Given the description of an element on the screen output the (x, y) to click on. 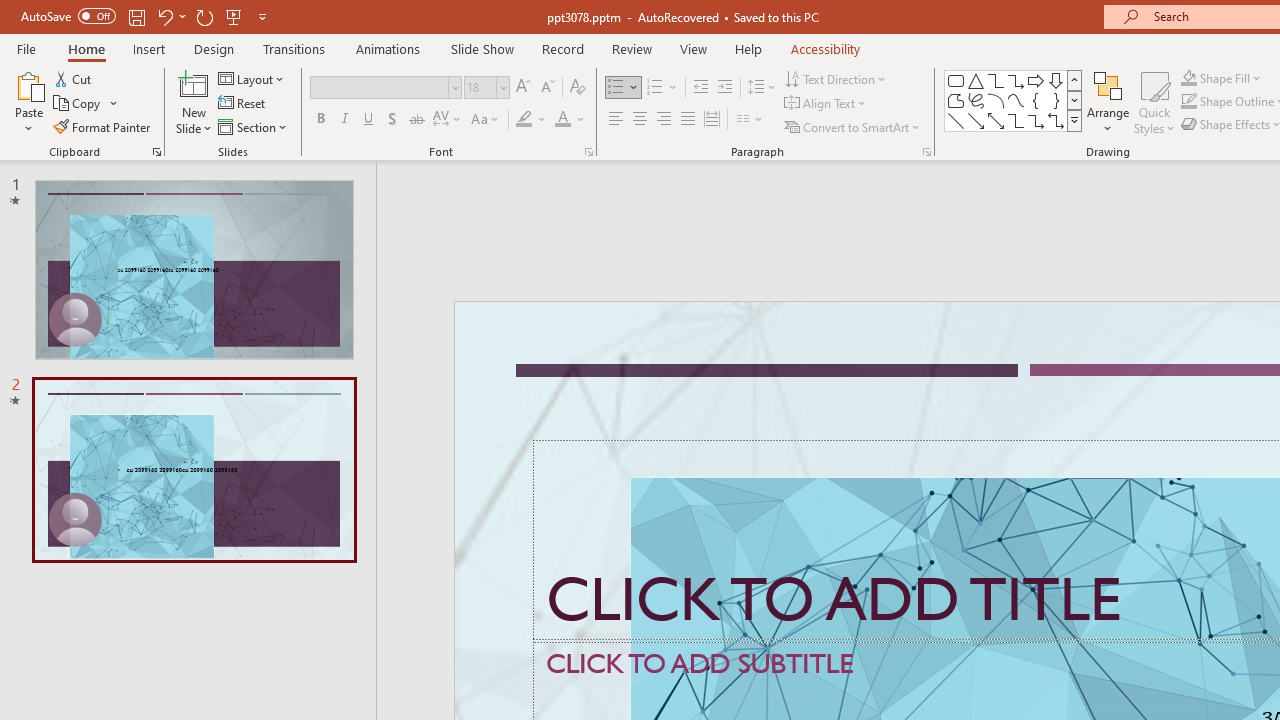
Shape Fill Dark Green, Accent 2 (1188, 78)
